Given the description of an element on the screen output the (x, y) to click on. 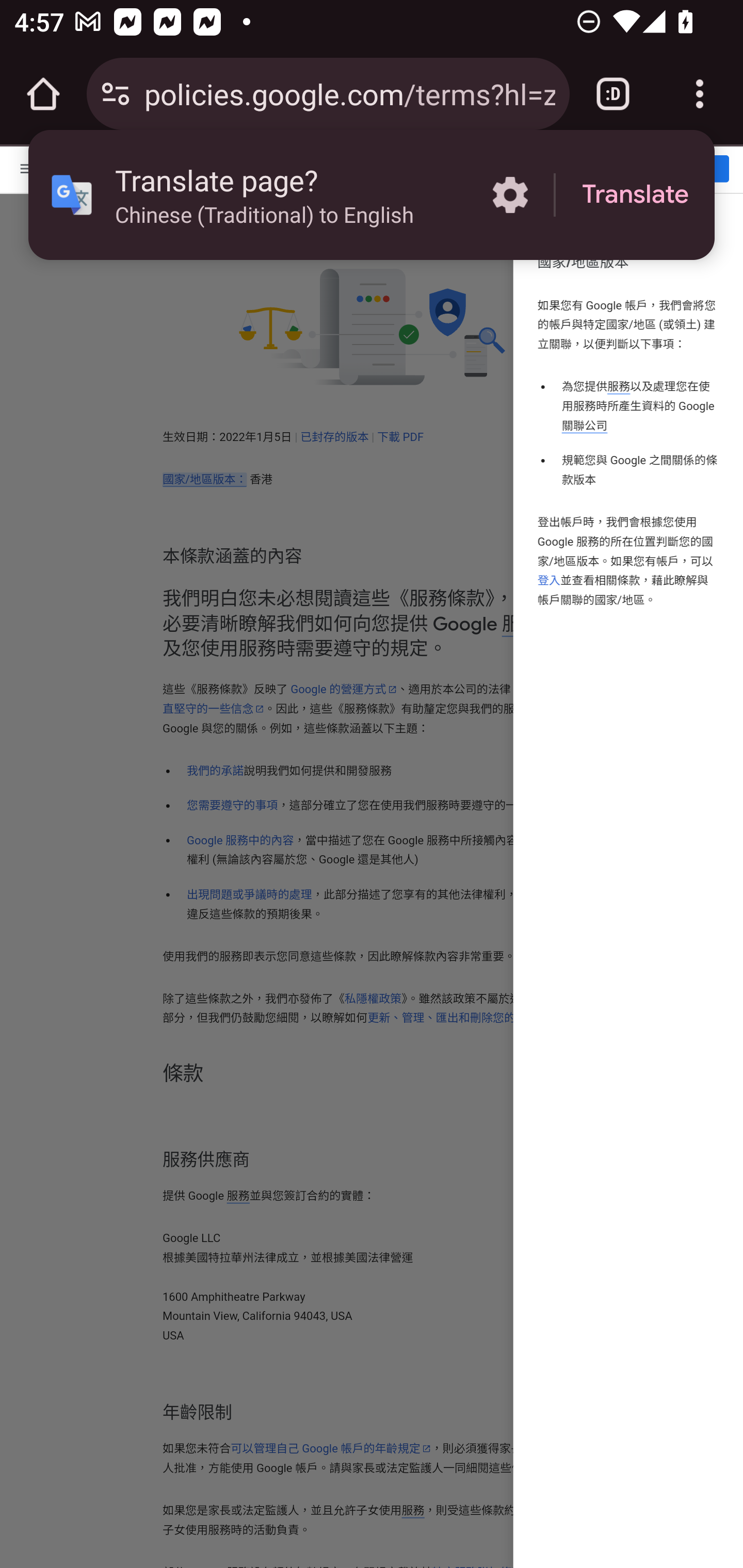
Open the home page (43, 93)
Connection is secure (115, 93)
Switch or close tabs (612, 93)
Customize and control Google Chrome (699, 93)
policies.google.com/terms?hl=zh-HK (349, 92)
Translate (634, 195)
More options in the Translate page? (509, 195)
